Given the description of an element on the screen output the (x, y) to click on. 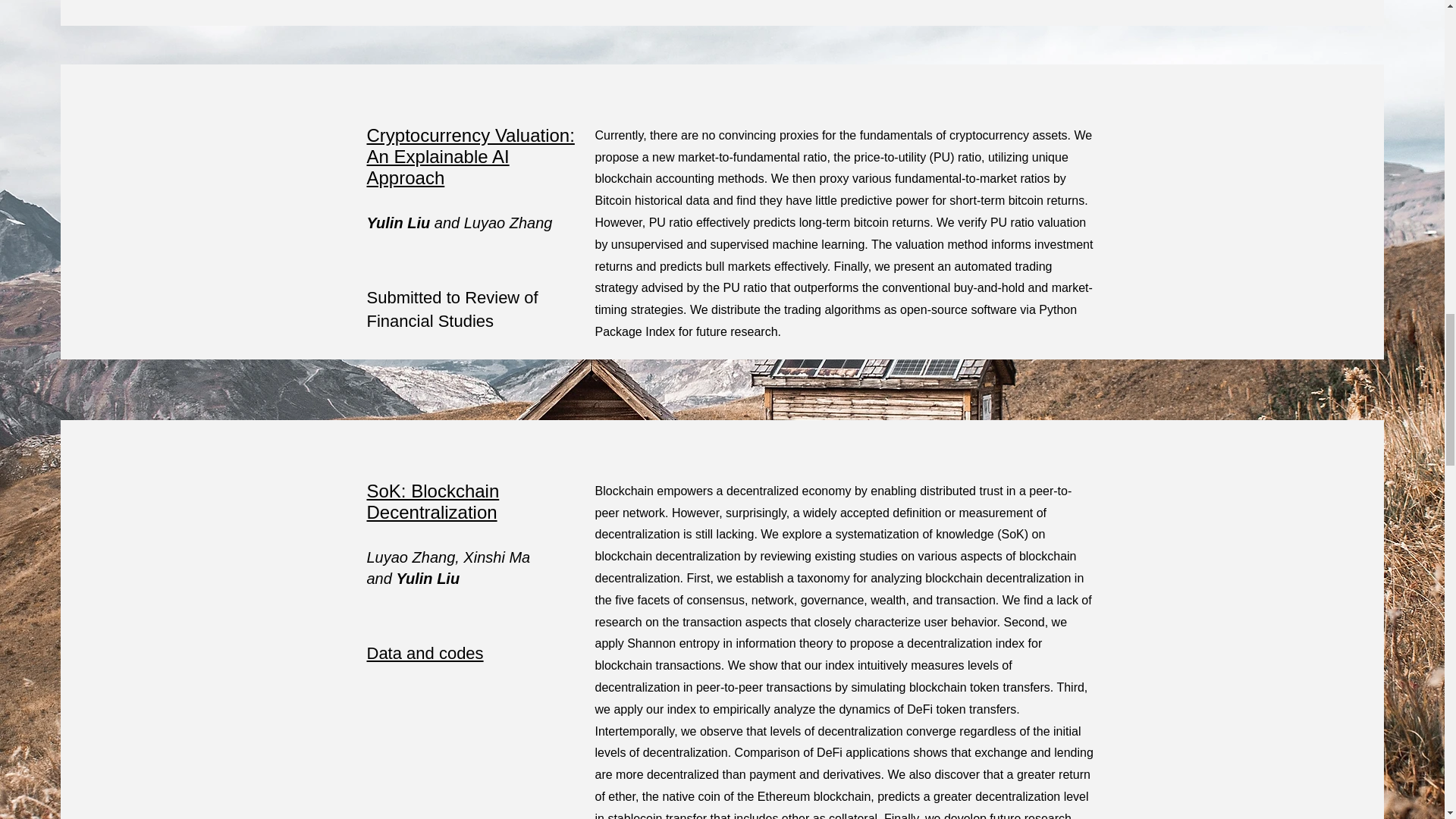
Cryptocurrency Valuation: An Explainable AI Approach (470, 156)
SoK: Blockchain Decentralization (432, 501)
Submitted to Review of Financial Studies (452, 309)
Data and codes (424, 652)
